Given the description of an element on the screen output the (x, y) to click on. 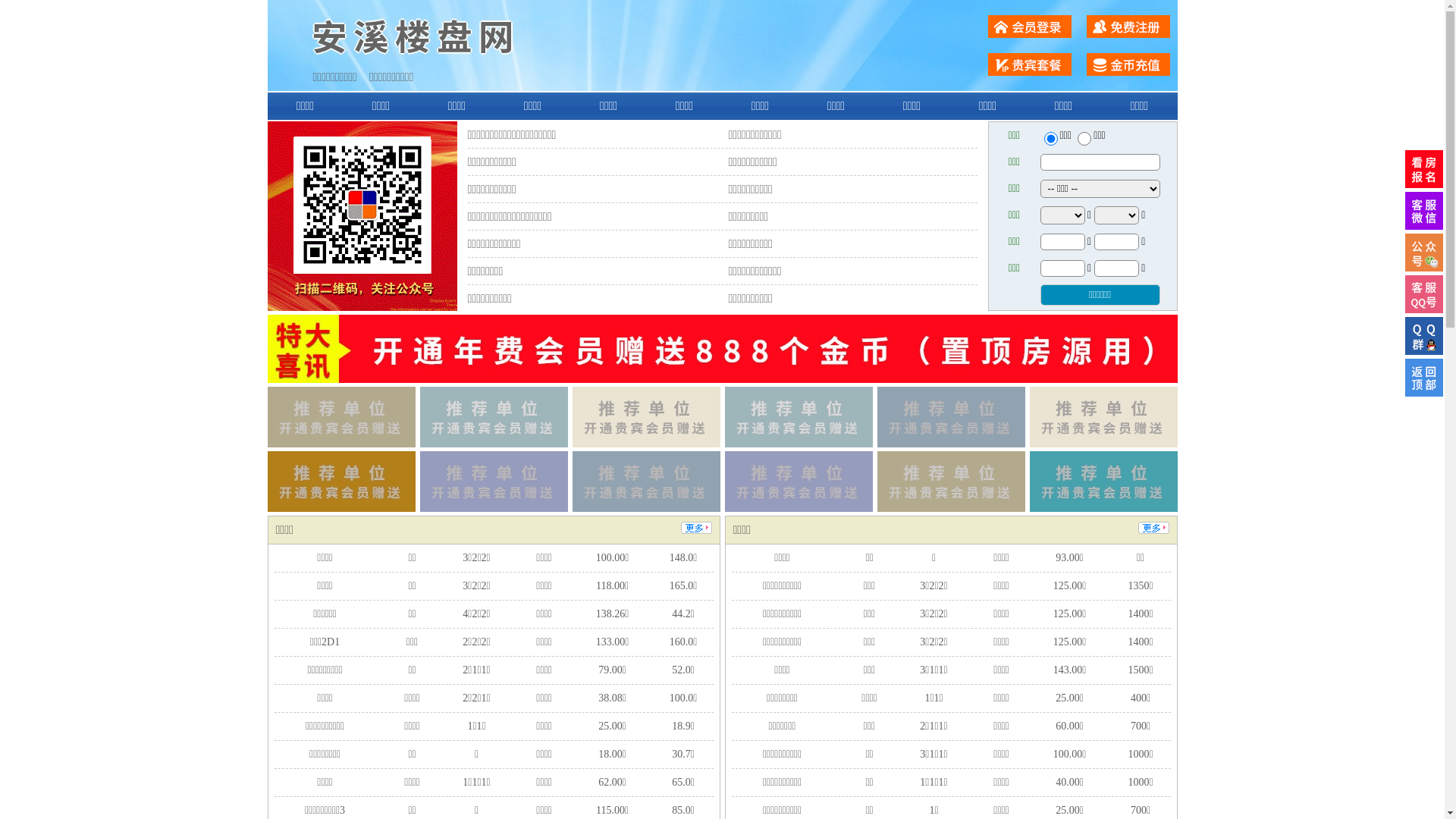
ershou Element type: text (1050, 138)
chuzu Element type: text (1084, 138)
